Given the description of an element on the screen output the (x, y) to click on. 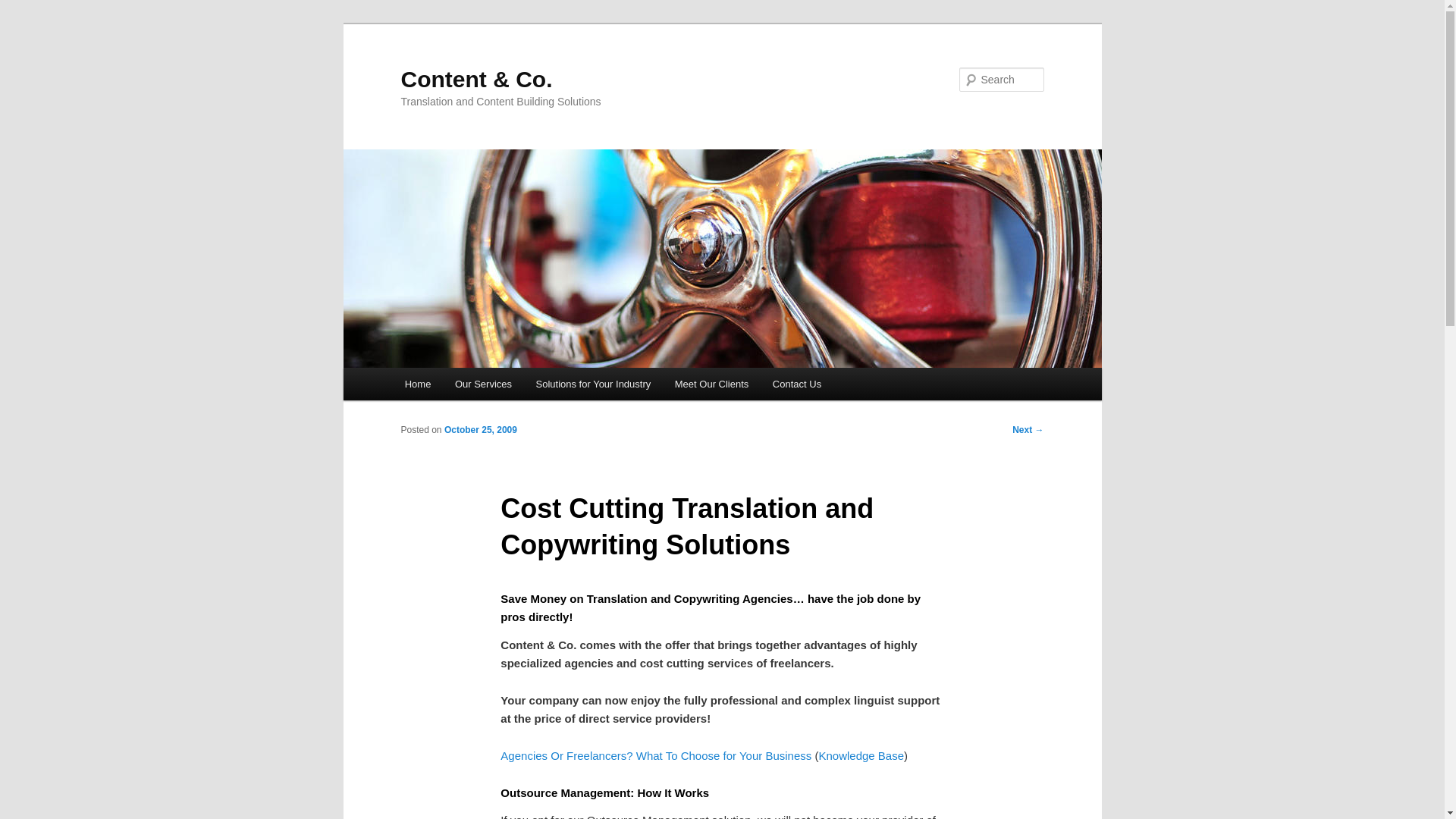
Contact Us (796, 383)
Knowledge Base (861, 755)
Agencies Or Freelancers? What To Choose for Your Business (655, 755)
Search (24, 8)
Meet Our Clients (711, 383)
Home (417, 383)
17:26 (480, 429)
Translation agency - freelancers (655, 755)
October 25, 2009 (480, 429)
